Given the description of an element on the screen output the (x, y) to click on. 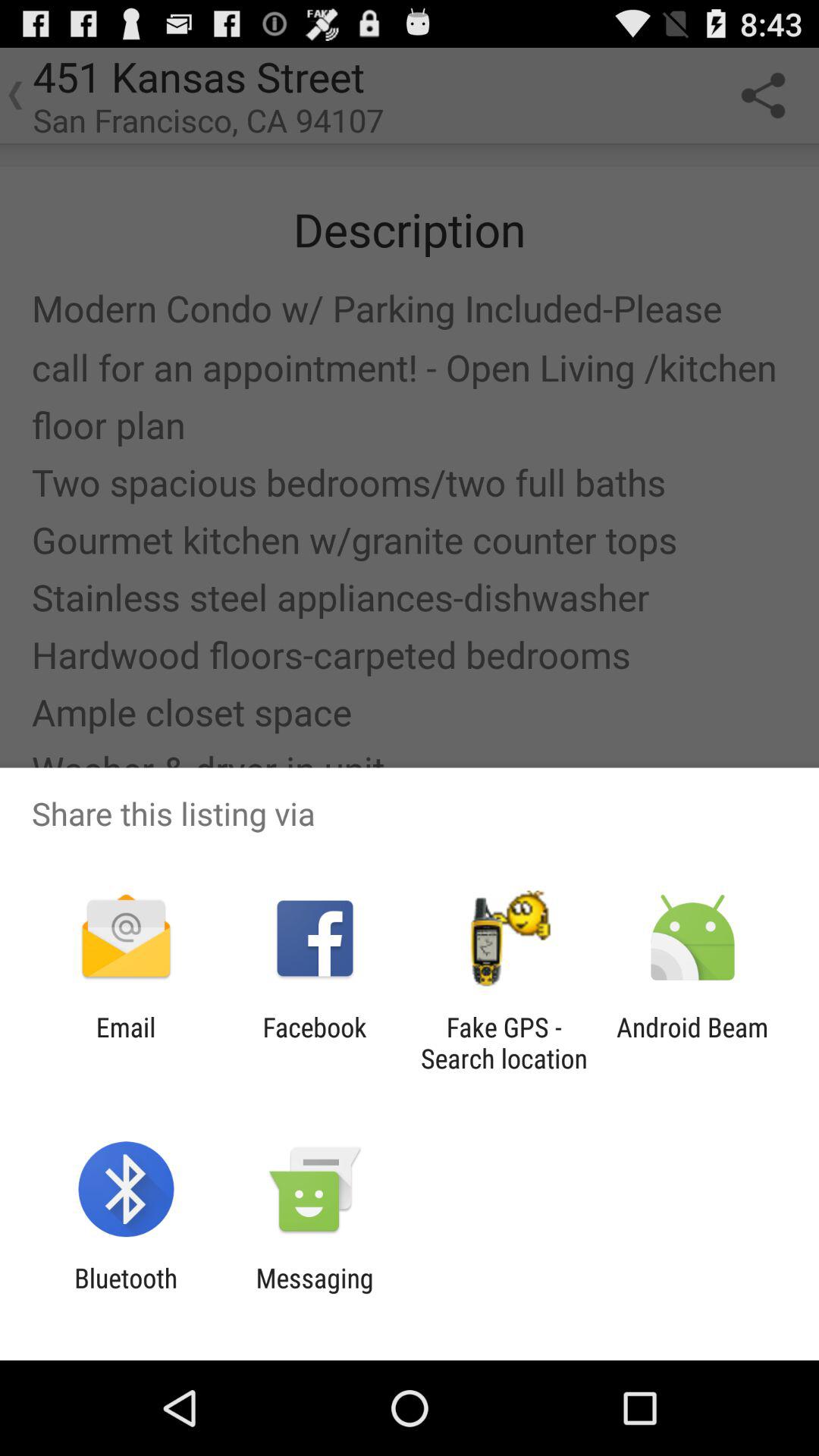
choose the app next to the fake gps search icon (692, 1042)
